Given the description of an element on the screen output the (x, y) to click on. 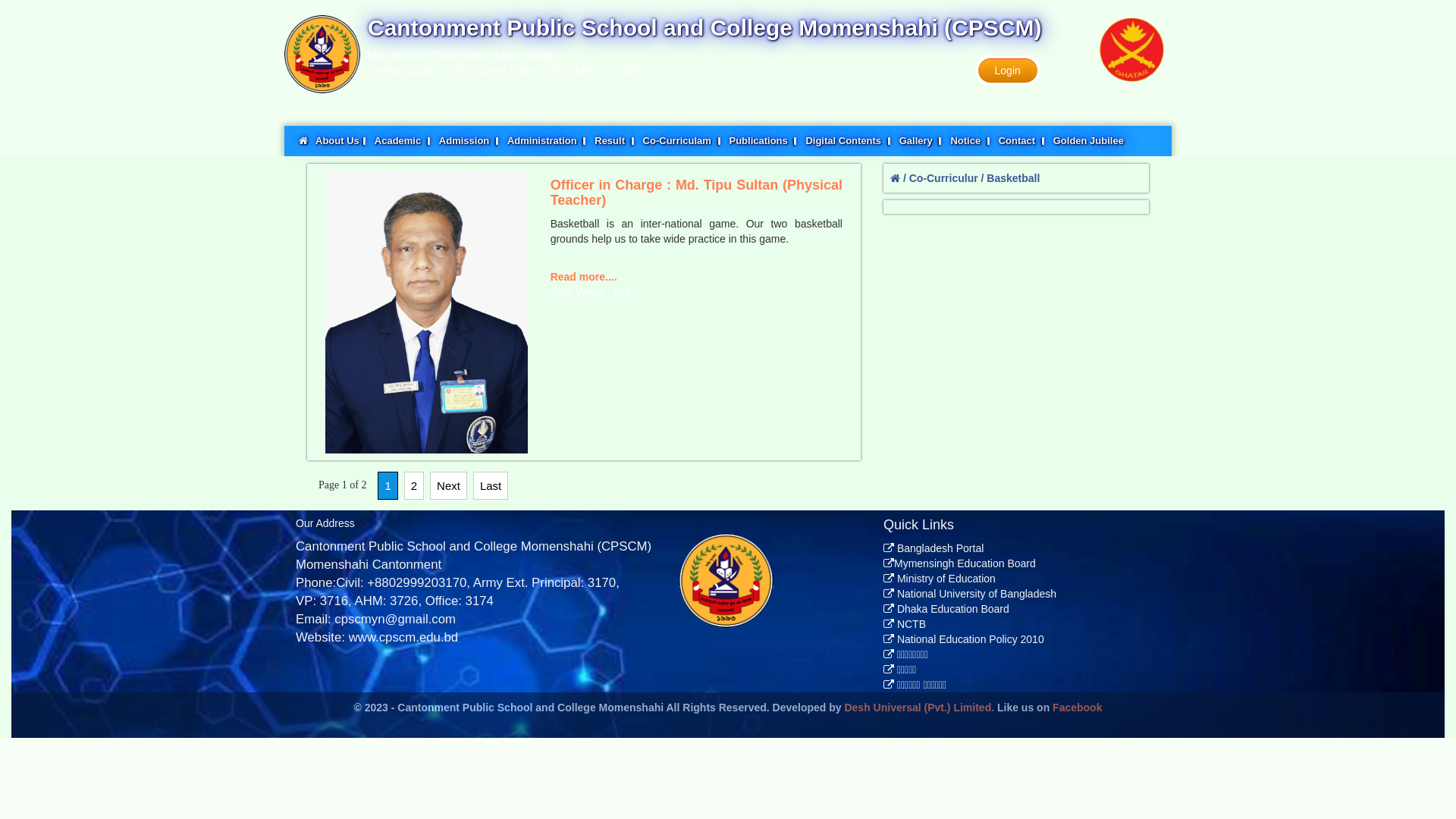
Administration Element type: text (546, 140)
Login Element type: text (1007, 70)
Desh Universal (Pvt.) Limited. Element type: text (919, 707)
Contact Element type: text (1021, 140)
Bangladesh Portal Element type: text (933, 548)
Publications Element type: text (762, 140)
Dhaka Education Board Element type: text (946, 608)
Academic Element type: text (402, 140)
Digital Contents Element type: text (847, 140)
Notice Element type: text (970, 140)
Ministry of Education Element type: text (939, 578)
2 Element type: text (413, 485)
Result Element type: text (614, 140)
Officer in Charge : Md. Tipu Sultan (Physical Teacher) Element type: hover (426, 311)
NCTB Element type: text (904, 624)
Next Element type: text (448, 485)
National University of Bangladesh Element type: text (969, 593)
Like us on Facebook Element type: text (1049, 707)
Co-Curriculam Element type: text (682, 140)
1 Element type: text (387, 485)
National Education Policy 2010 Element type: text (963, 639)
Golden Jubilee Element type: text (1088, 140)
About Us Element type: text (340, 140)
Read more.... Element type: text (583, 276)
Admission Element type: text (469, 140)
Mymensingh Education Board Element type: text (959, 563)
Last Element type: text (490, 485)
Gallery Element type: text (921, 140)
